Given the description of an element on the screen output the (x, y) to click on. 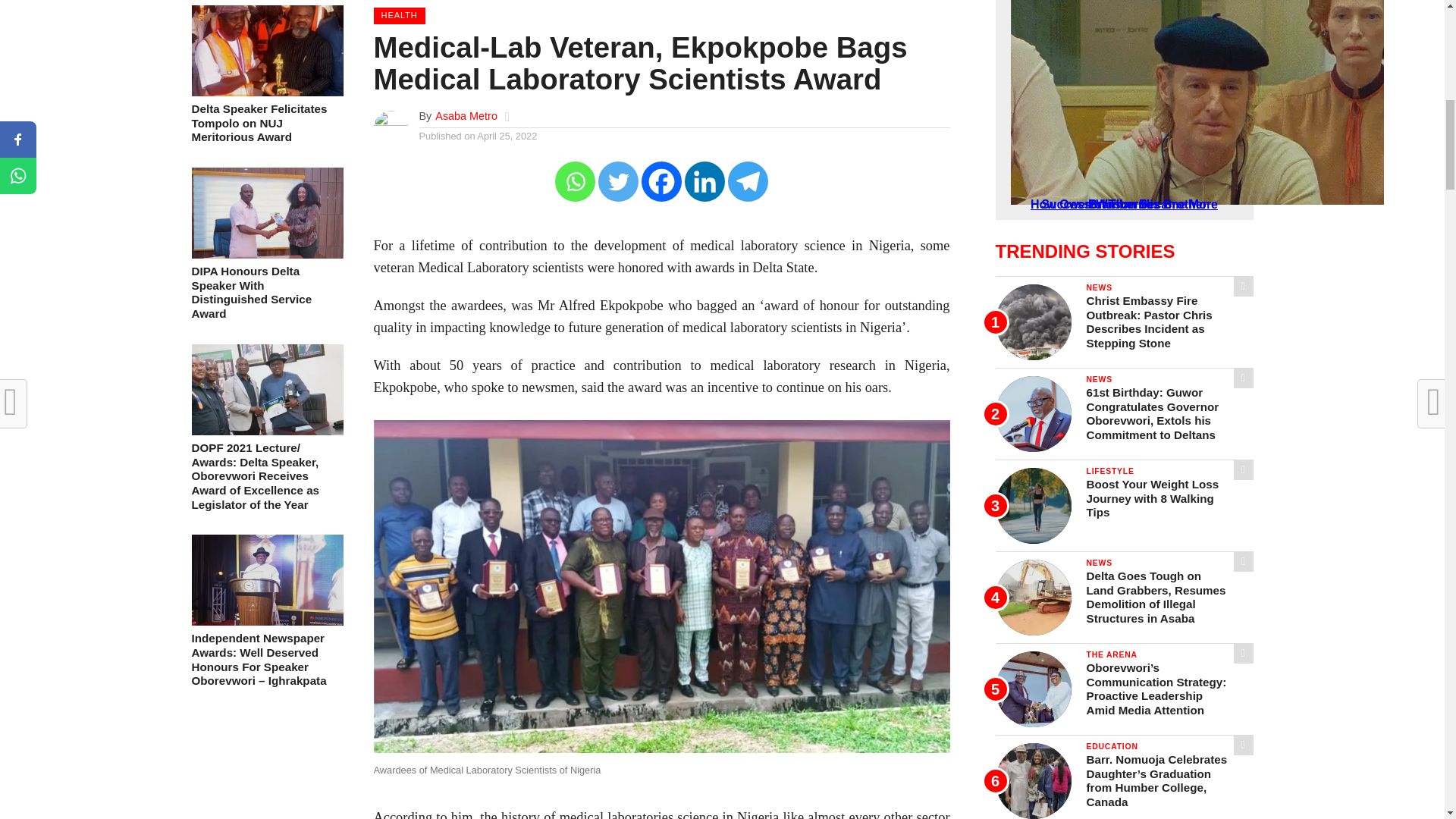
Facebook (661, 181)
Delta Speaker Felicitates Tompolo on NUJ Meritorious Award (266, 91)
Whatsapp (574, 181)
Telegram (748, 181)
Twitter (618, 181)
Posts by Asaba Metro (466, 115)
DIPA Honours Delta Speaker With Distinguished Service Award (266, 292)
Linkedin (704, 181)
DIPA Honours Delta Speaker With Distinguished Service Award (266, 254)
Delta Speaker Felicitates Tompolo on NUJ Meritorious Award (266, 123)
